Given the description of an element on the screen output the (x, y) to click on. 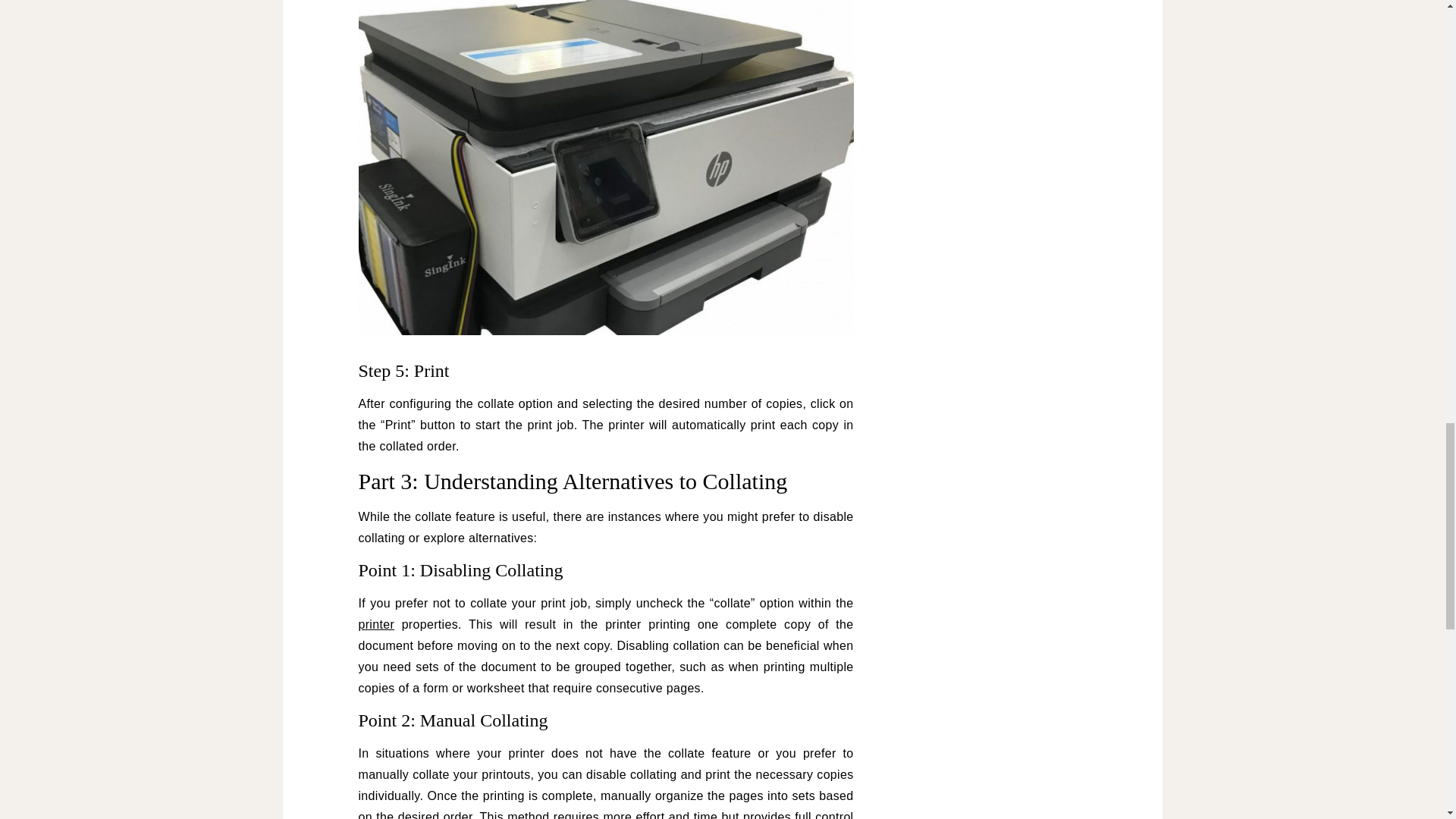
printer (376, 624)
